Given the description of an element on the screen output the (x, y) to click on. 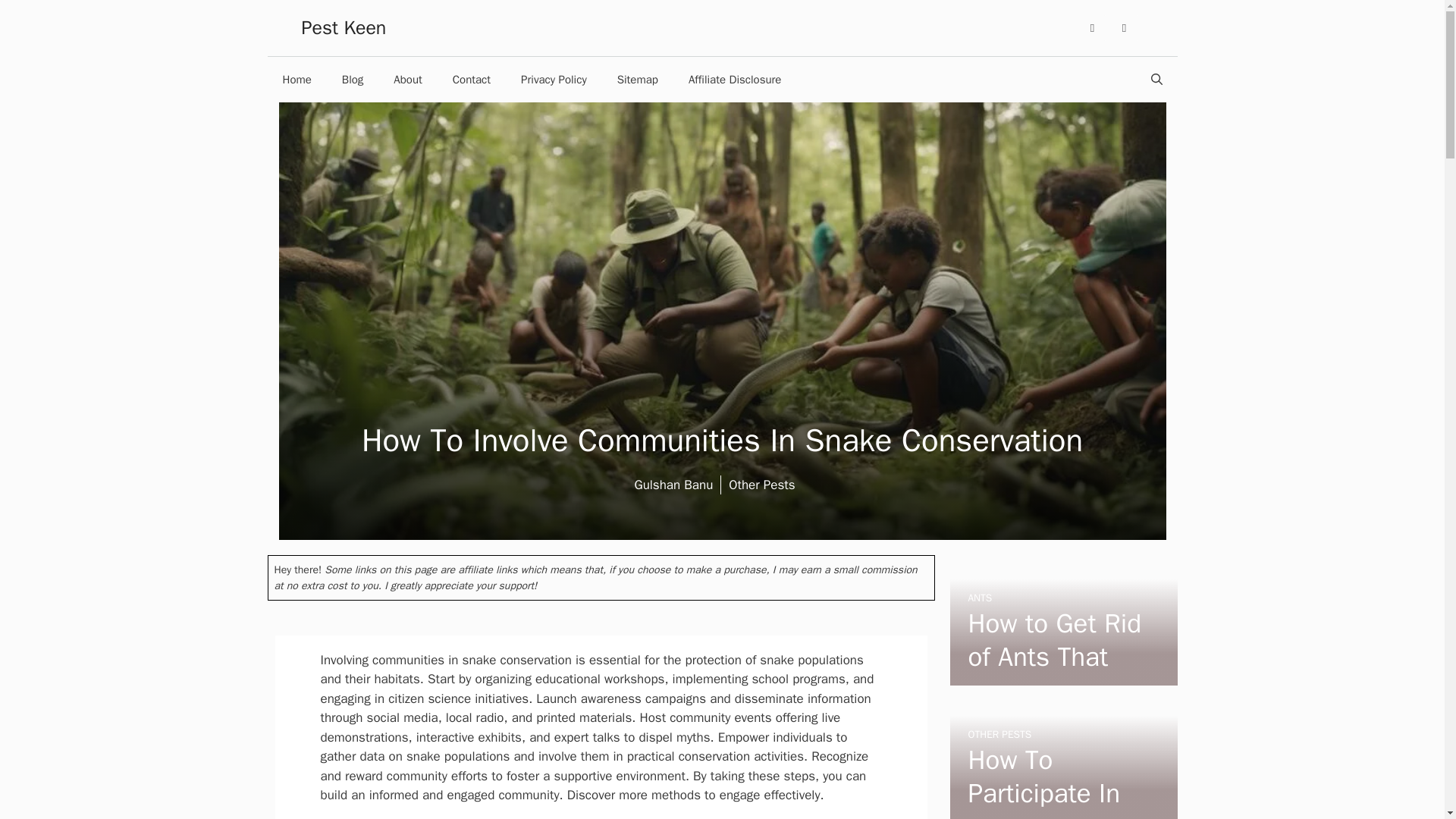
About (407, 79)
ANTS (979, 597)
Home (296, 79)
Pest Keen (344, 27)
OTHER PESTS (999, 734)
How to Get Rid of Ants That Have No Trail (1054, 656)
Twitter (1124, 27)
Facebook (1092, 27)
Privacy Policy (553, 79)
Sitemap (637, 79)
Contact (471, 79)
Blog (352, 79)
How To Participate In Snake Conservation Projects (1043, 780)
Affiliate Disclosure (734, 79)
